Given the description of an element on the screen output the (x, y) to click on. 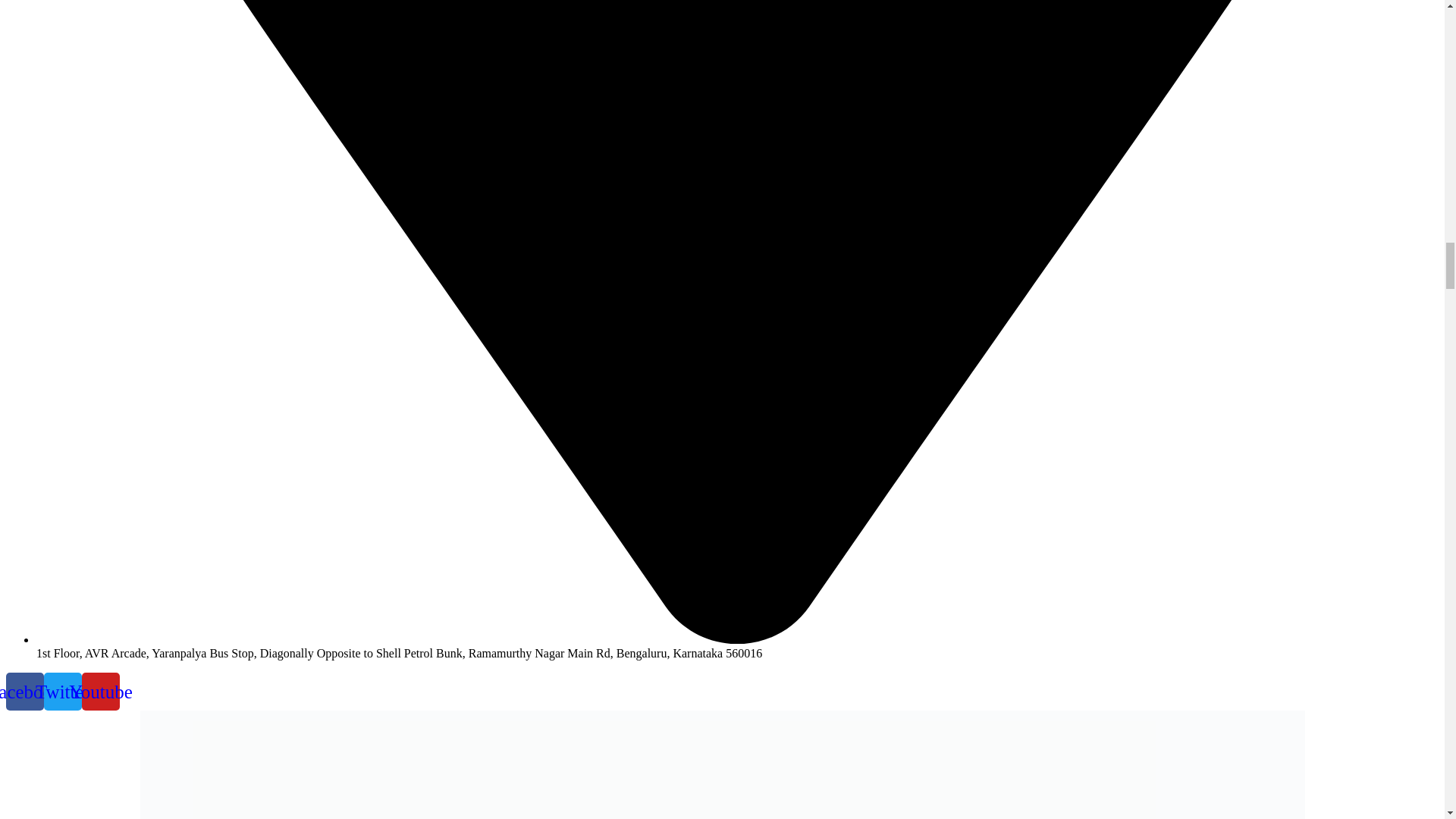
Youtube (100, 691)
Twitter (62, 691)
Facebook (24, 691)
